Given the description of an element on the screen output the (x, y) to click on. 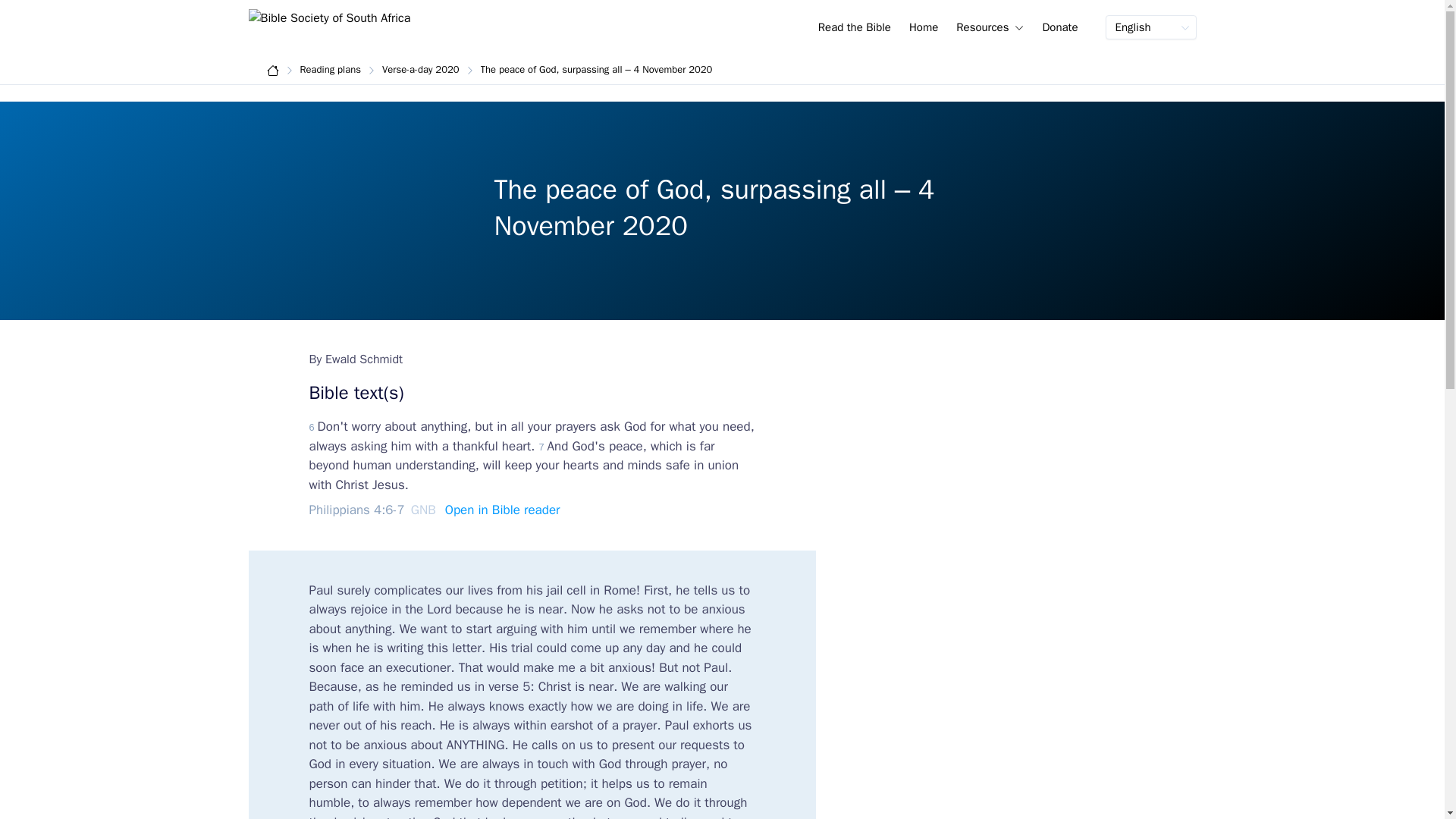
Resources (989, 25)
Donate (1059, 25)
Donate (1059, 25)
Resources (989, 25)
Read the Bible (854, 25)
Donate (1059, 24)
Resources (989, 24)
English (1150, 27)
English (1150, 27)
Home (923, 25)
Home (923, 25)
Open in Bible reader (502, 509)
Reading plans (330, 69)
Verse-a-day 2020 (420, 69)
Home (922, 24)
